Given the description of an element on the screen output the (x, y) to click on. 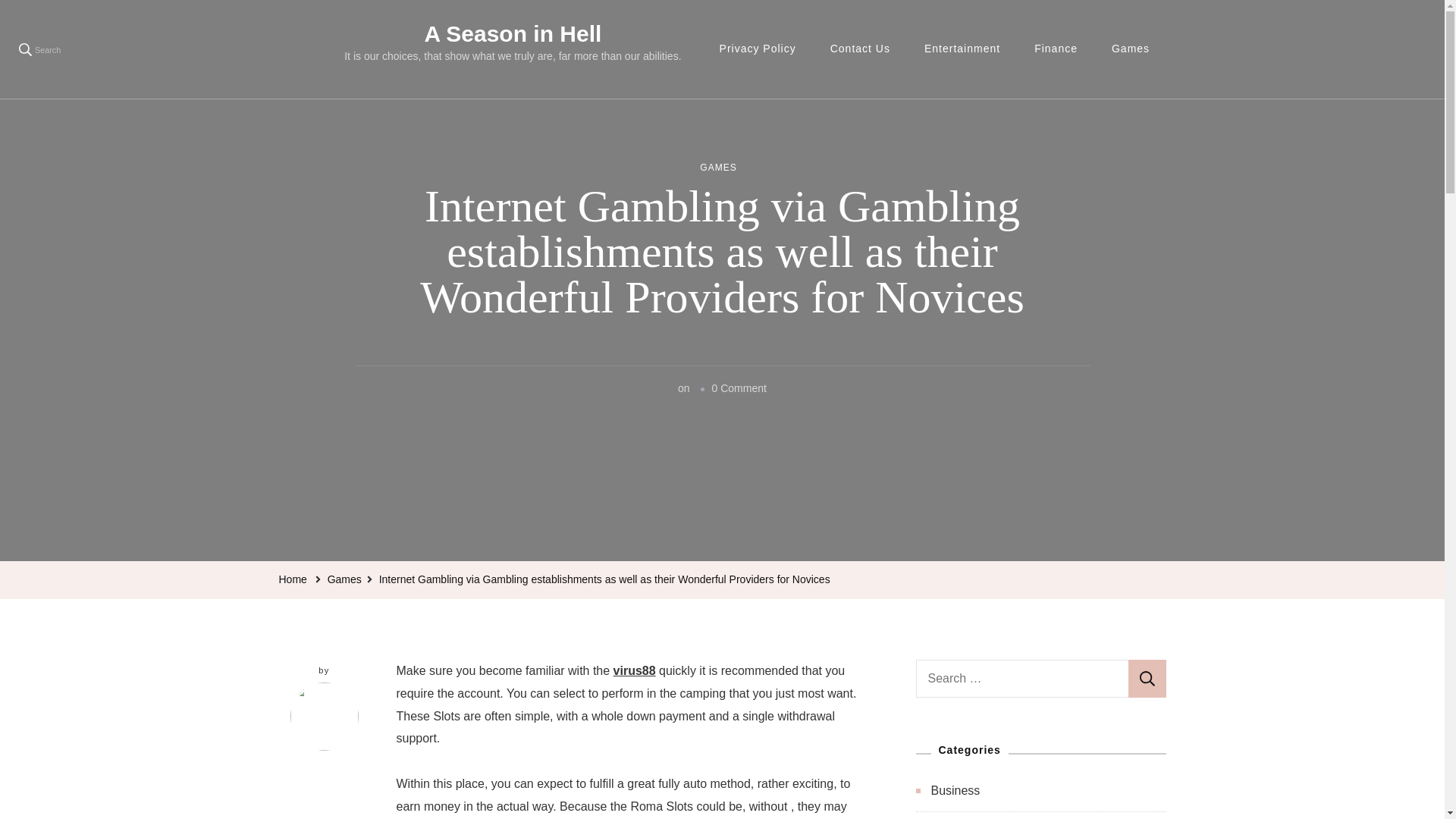
Games (344, 579)
Finance (1056, 49)
Entertainment (961, 49)
Search (1147, 678)
Home (293, 579)
Search (1147, 678)
Games (1130, 49)
A Season in Hell (512, 33)
virus88 (634, 670)
